Given the description of an element on the screen output the (x, y) to click on. 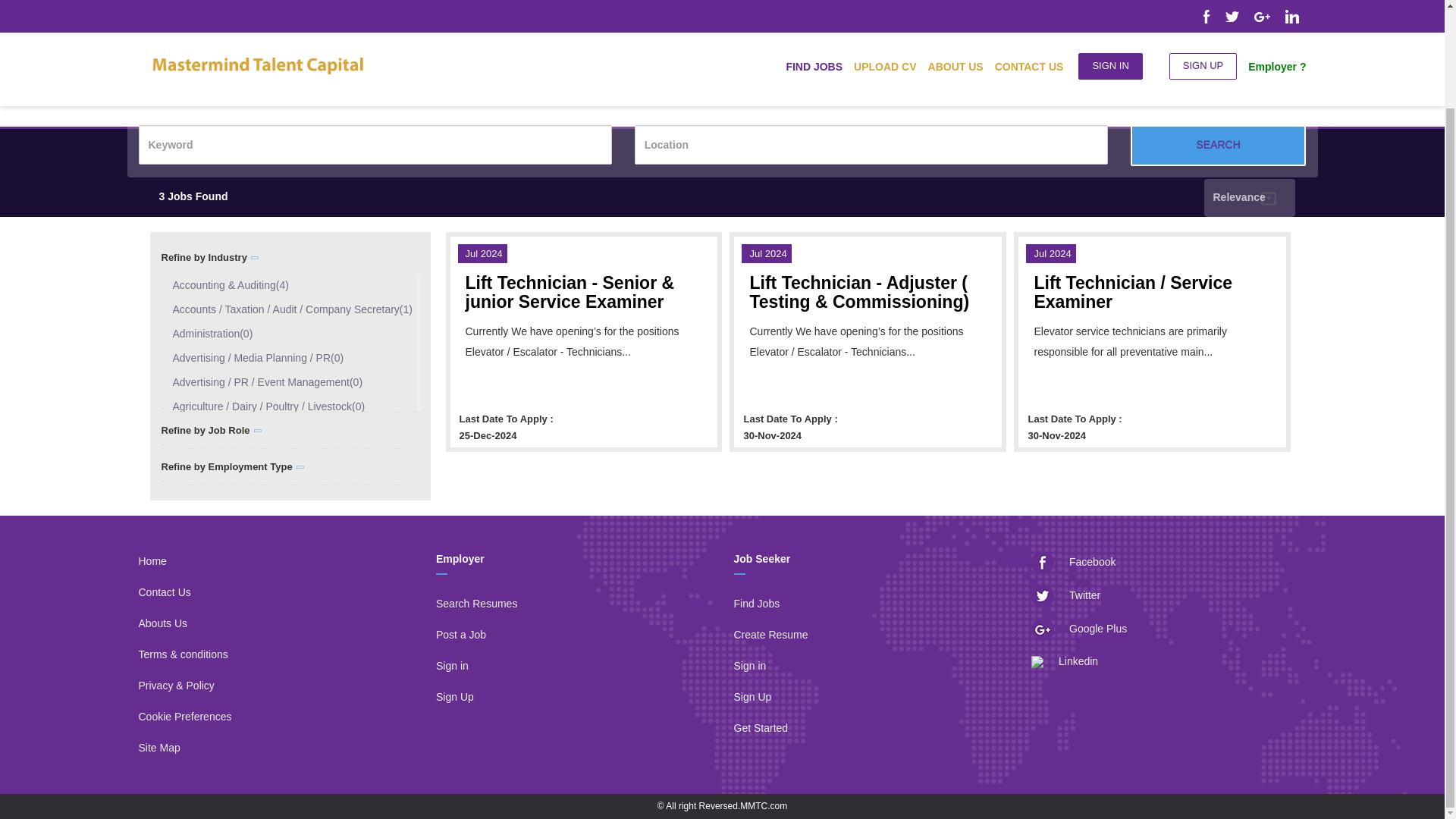
Search (1218, 145)
Search (1218, 145)
Refine by Industry (210, 261)
